Given the description of an element on the screen output the (x, y) to click on. 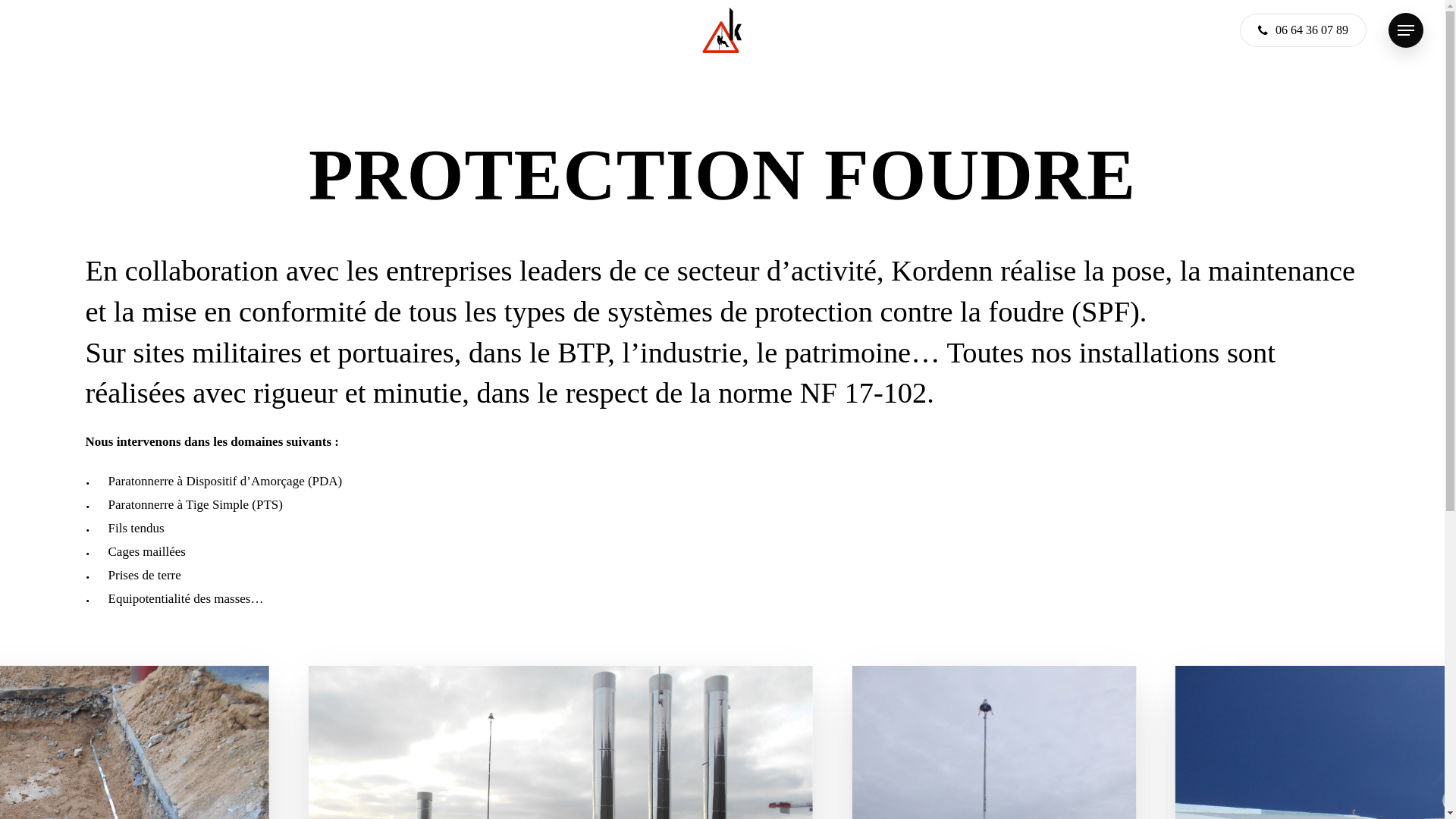
06 64 36 07 89 Element type: text (1302, 30)
Menu Element type: text (1405, 30)
